Given the description of an element on the screen output the (x, y) to click on. 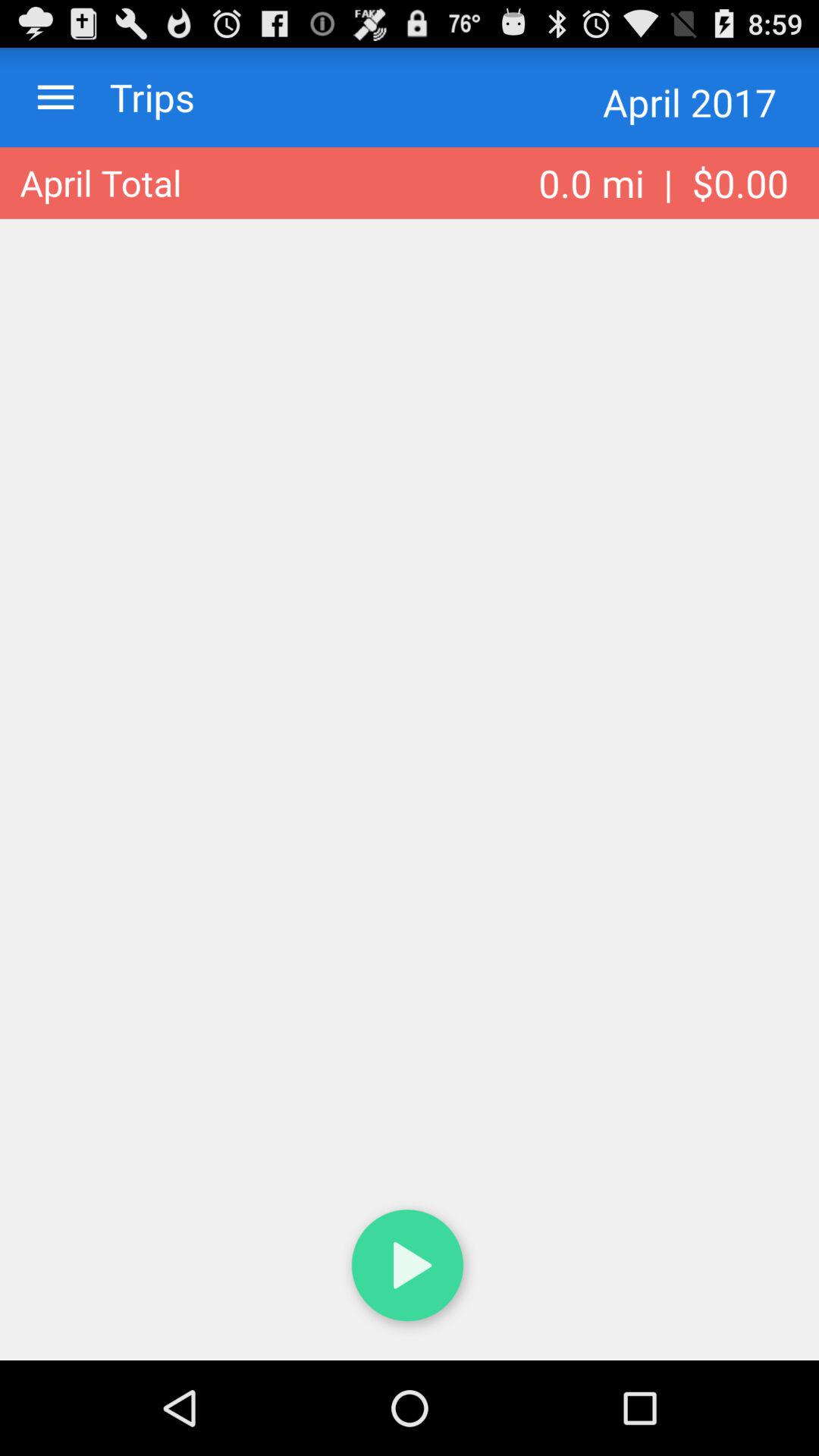
launch checkbox to the left of the april 2017 checkbox (137, 96)
